Given the description of an element on the screen output the (x, y) to click on. 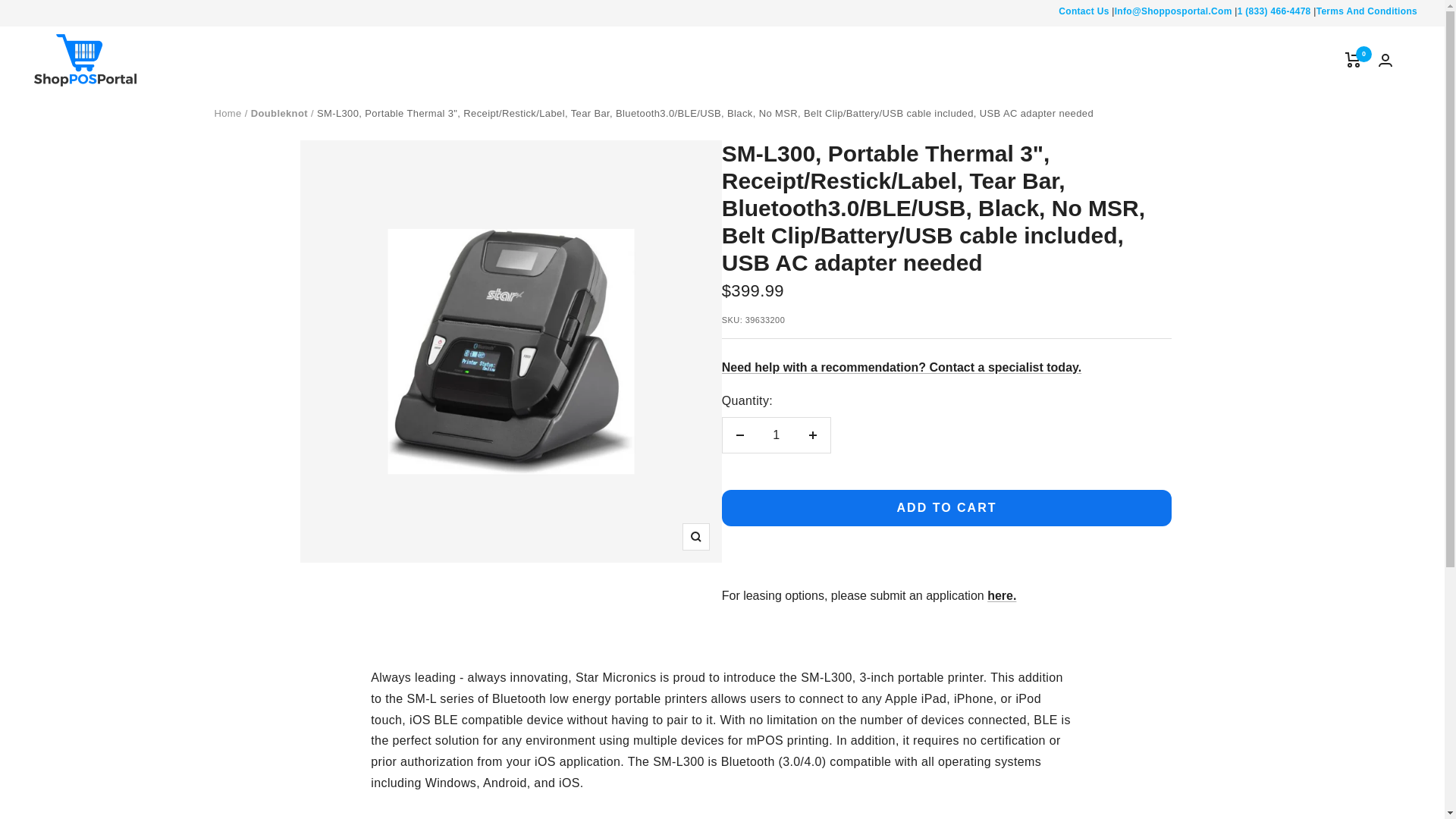
Contact Us (1083, 10)
1 (775, 434)
Terms And Conditions (1366, 10)
Doubleknot (278, 112)
here. (1001, 594)
Decrease quantity (739, 434)
Need help with a recommendation? Contact a specialist today. (901, 367)
ADD TO CART (947, 507)
ShopPOSPortal (84, 60)
0 (1353, 59)
